Given the description of an element on the screen output the (x, y) to click on. 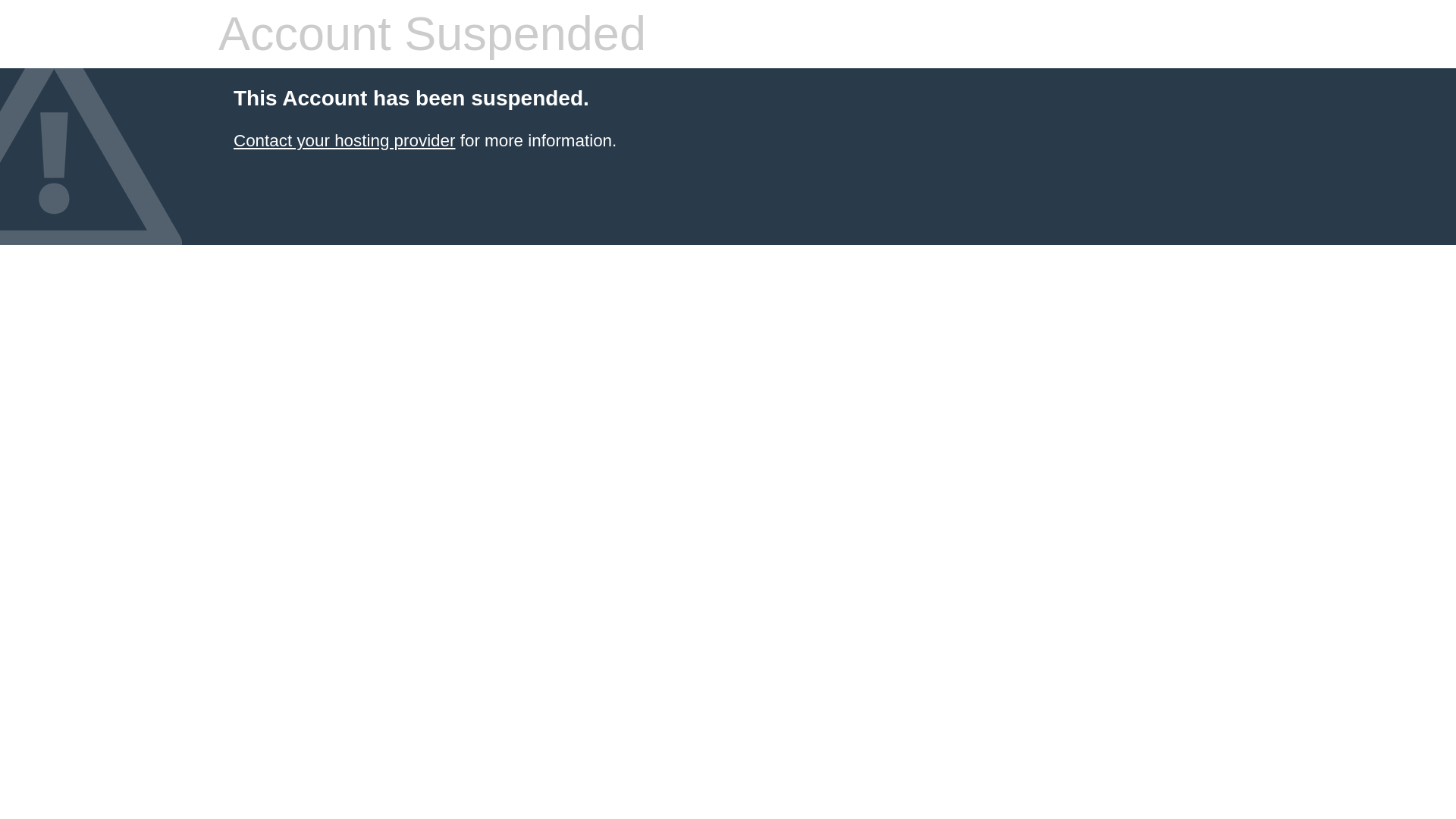
Contact your hosting provider (343, 140)
